Given the description of an element on the screen output the (x, y) to click on. 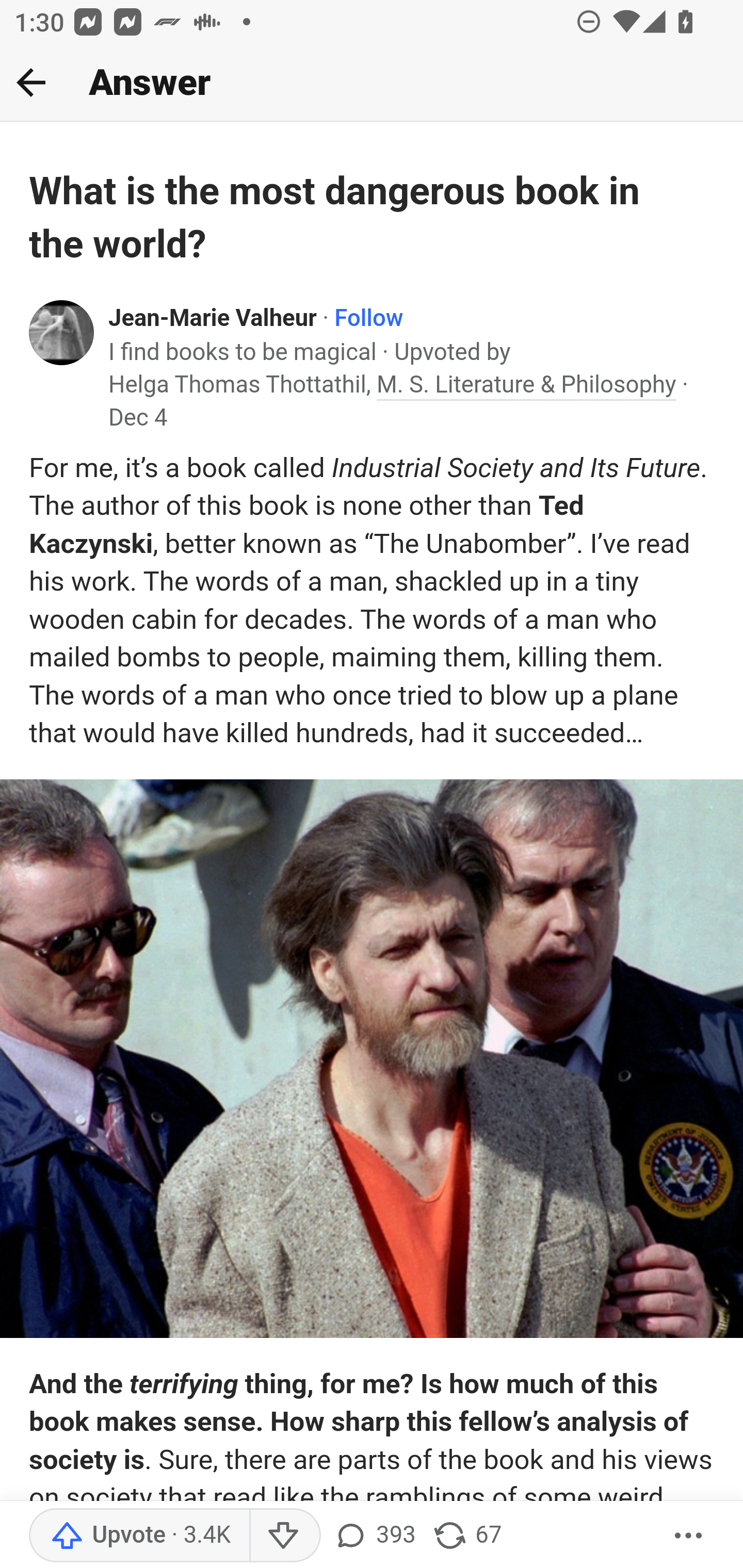
Back (30, 82)
What is the most dangerous book in the world? (337, 217)
Profile photo for Jean-Marie Valheur (61, 331)
Jean-Marie Valheur (213, 318)
Follow (368, 318)
main-qimg-6e3fbf270bf7cd3b3e75058e5de37f09 (371, 1059)
Upvote (138, 1535)
Downvote (283, 1535)
393 comments (373, 1535)
67 shares (466, 1535)
More (688, 1535)
